Given the description of an element on the screen output the (x, y) to click on. 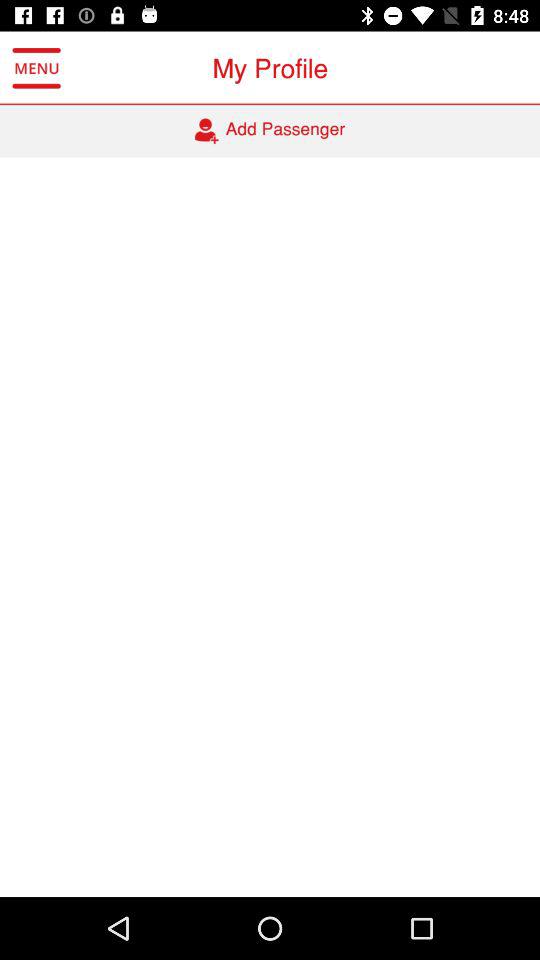
launch the icon below the my profile (269, 131)
